Given the description of an element on the screen output the (x, y) to click on. 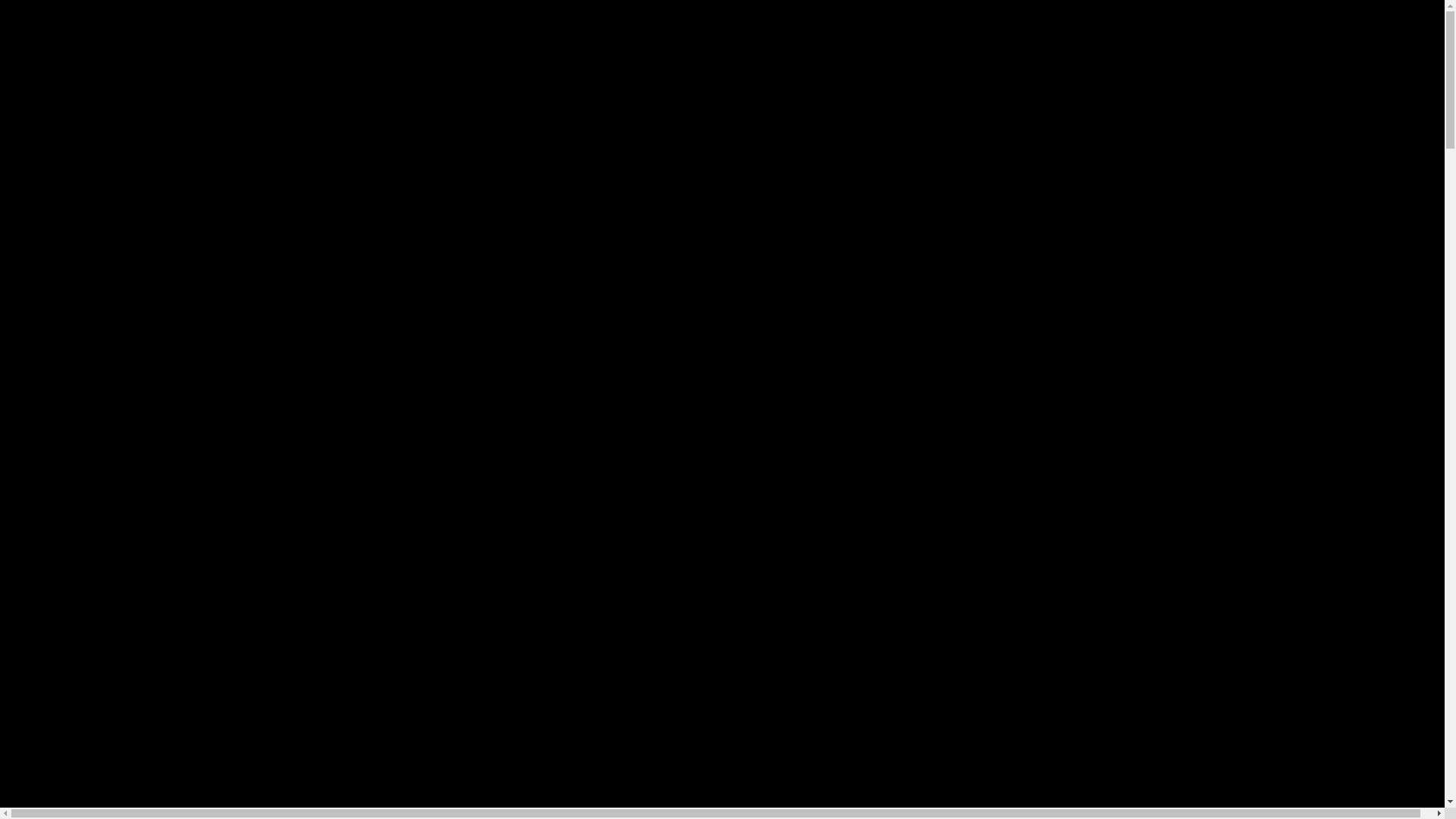
send Element type: text (1331, 689)
